Given the description of an element on the screen output the (x, y) to click on. 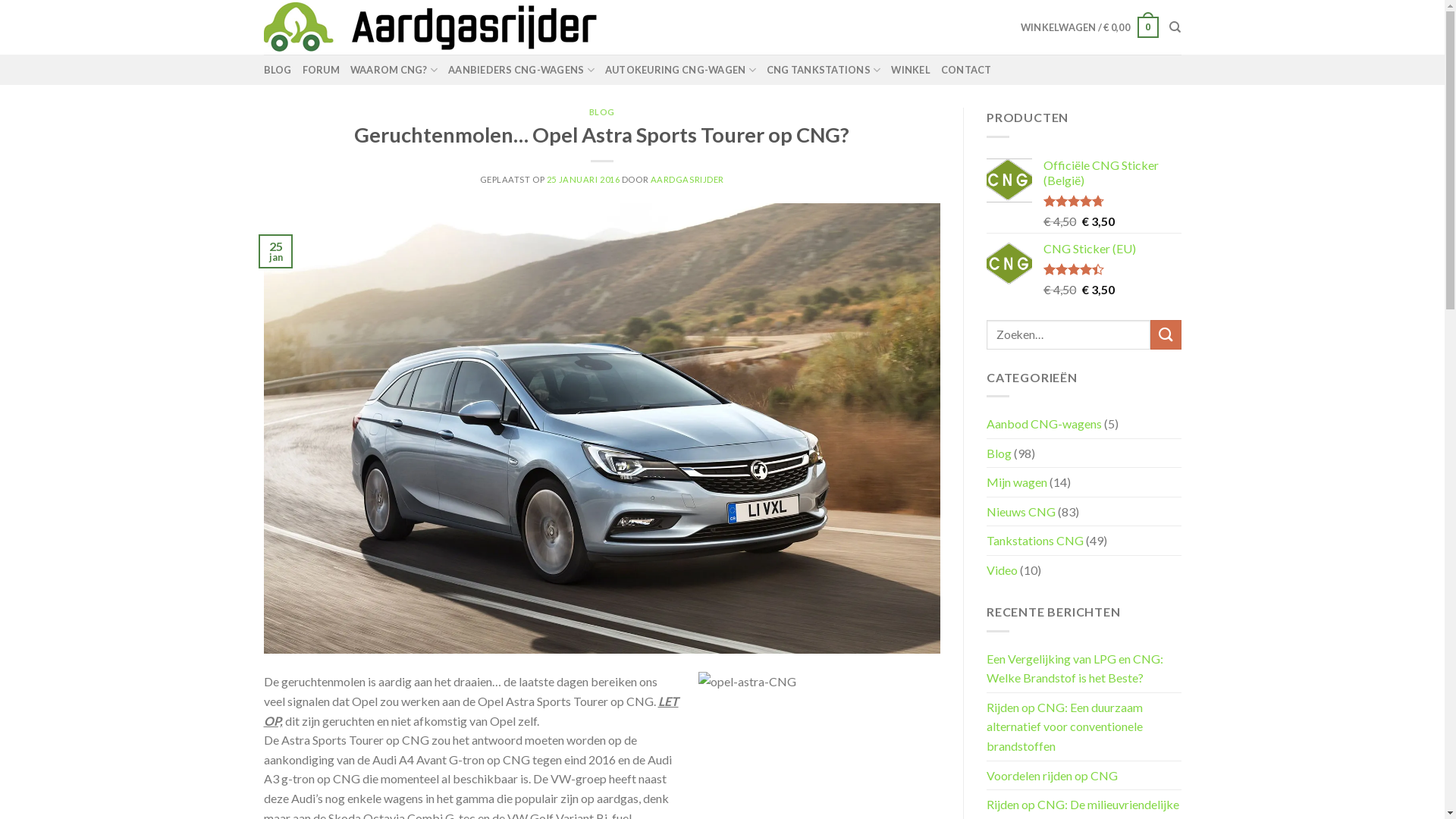
Blog Element type: text (998, 452)
Voordelen rijden op CNG Element type: text (1051, 775)
Video Element type: text (1001, 569)
25 JANUARI 2016 Element type: text (582, 179)
Nieuws CNG Element type: text (1020, 511)
Tankstations CNG Element type: text (1034, 540)
CONTACT Element type: text (966, 69)
CNG Sticker (EU) Element type: text (1112, 249)
AANBIEDERS CNG-WAGENS Element type: text (521, 69)
BLOG Element type: text (602, 111)
WINKEL Element type: text (910, 69)
Aanbod CNG-wagens Element type: text (1043, 423)
CNG TANKSTATIONS Element type: text (823, 69)
Aardgasrijder - Rijden op CNG / CNG wagens / CNG Auto Element type: hover (498, 27)
WAAROM CNG? Element type: text (393, 69)
Mijn wagen Element type: text (1016, 481)
BLOG Element type: text (277, 69)
AARDGASRIJDER Element type: text (687, 179)
FORUM Element type: text (320, 69)
AUTOKEURING CNG-WAGEN Element type: text (680, 69)
